Given the description of an element on the screen output the (x, y) to click on. 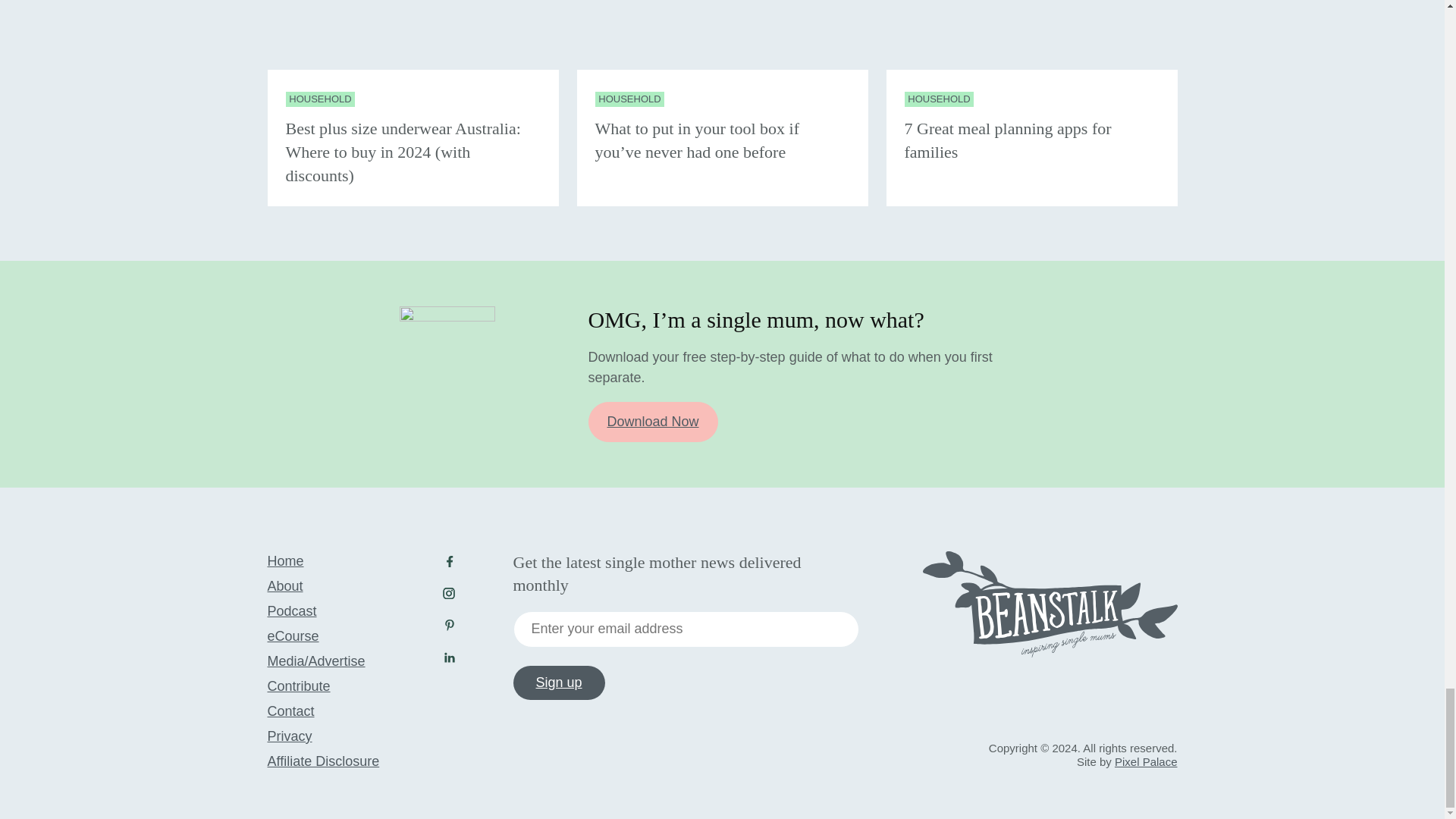
Sign up (558, 683)
